Given the description of an element on the screen output the (x, y) to click on. 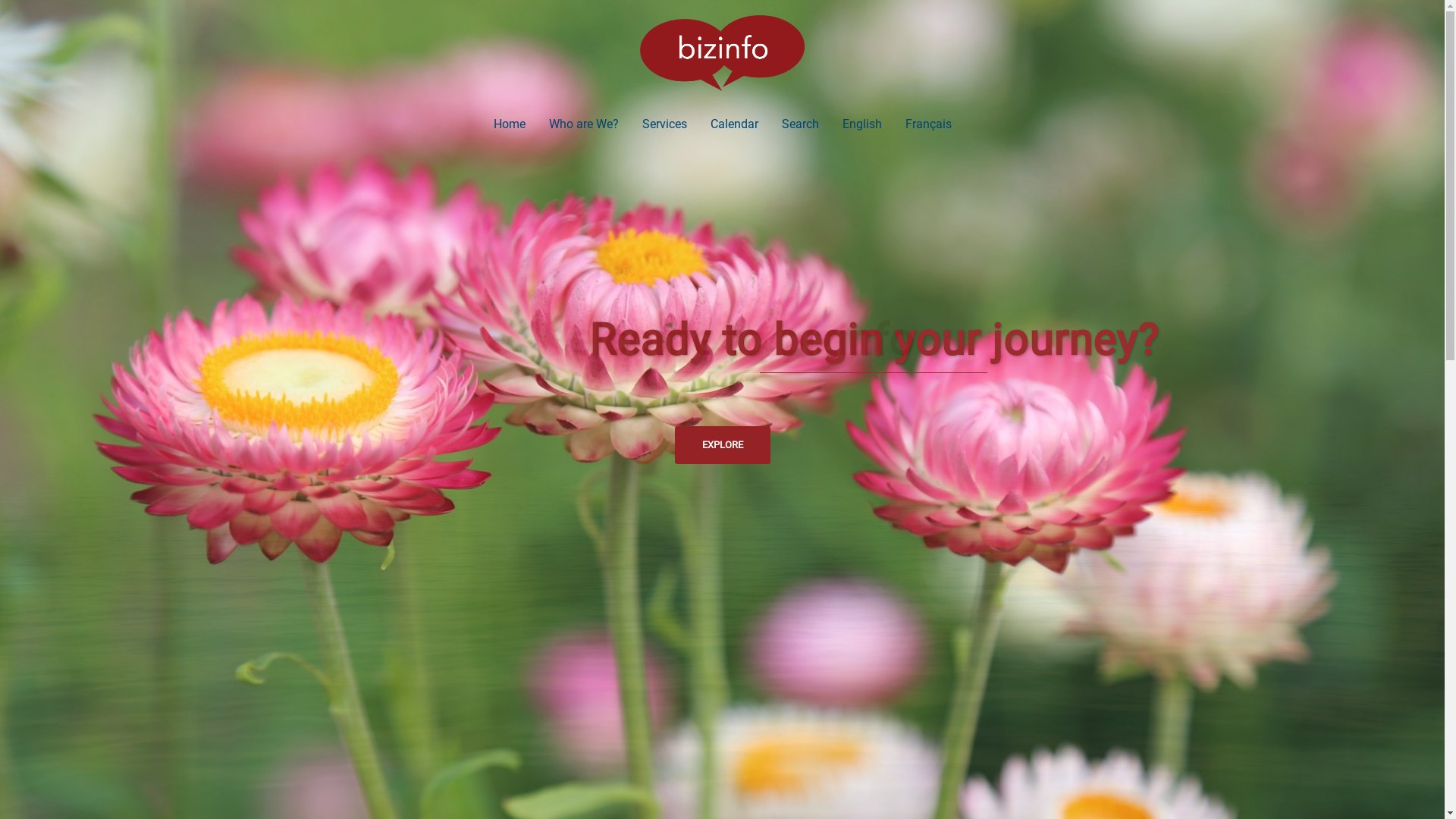
Calendar Element type: text (733, 123)
Skip to content Element type: text (0, 0)
English Element type: text (861, 123)
Search Element type: text (799, 123)
EXPLORE Element type: text (722, 445)
Services Element type: text (663, 123)
Home Element type: text (508, 123)
Who are We? Element type: text (583, 123)
